Given the description of an element on the screen output the (x, y) to click on. 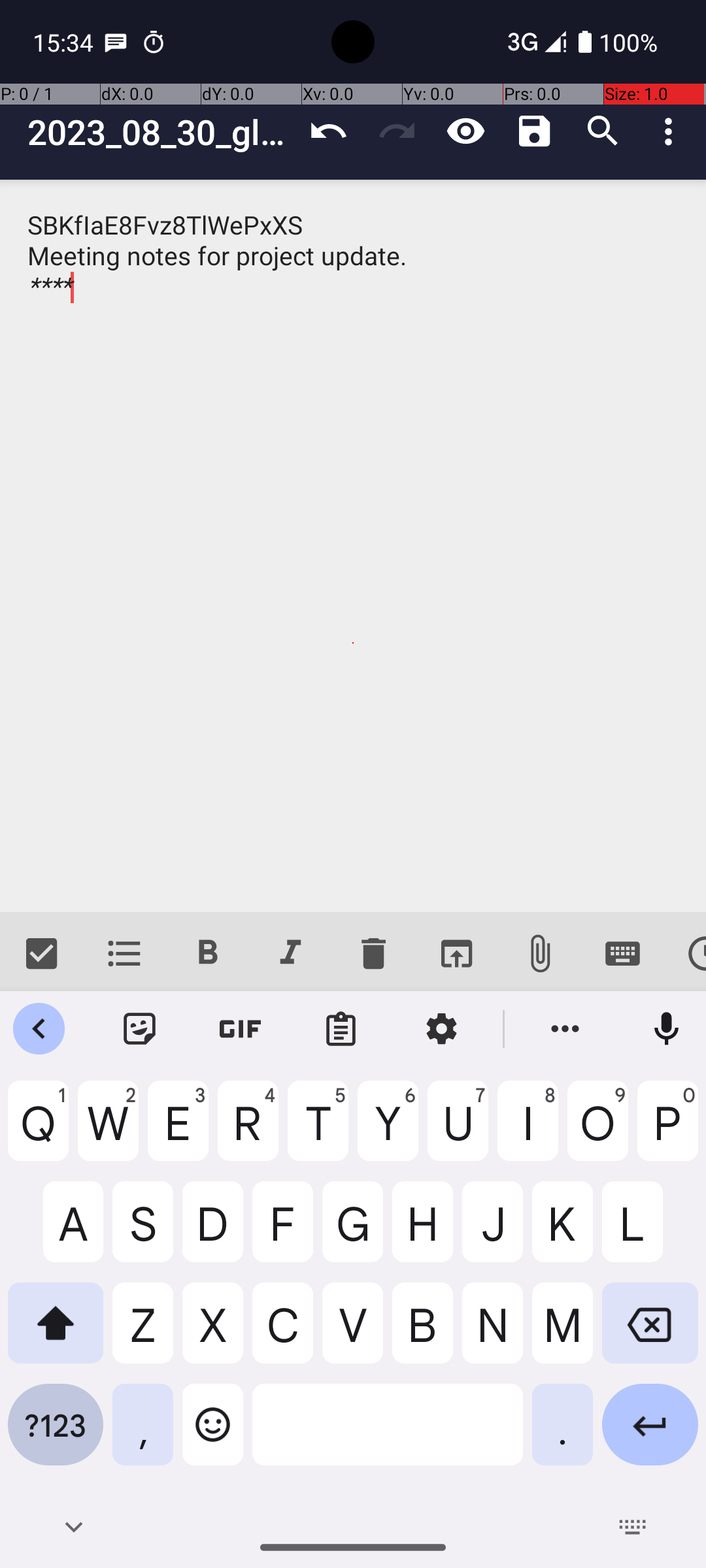
2023_08_30_glad_koala Element type: android.widget.TextView (160, 131)
SBKfIaE8Fvz8TlWePxXS
Meeting notes for project update.
**** Element type: android.widget.EditText (353, 545)
